Given the description of an element on the screen output the (x, y) to click on. 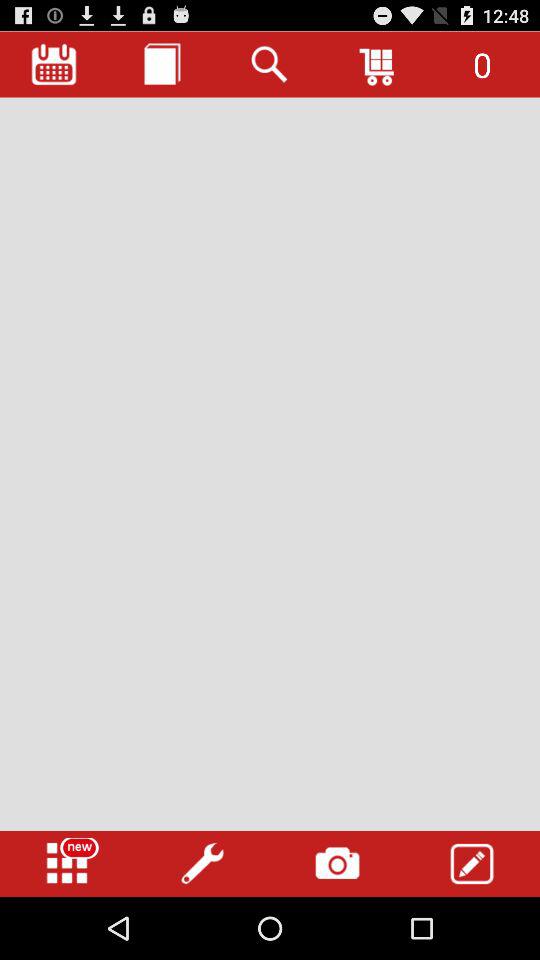
go to tools options (202, 863)
